Given the description of an element on the screen output the (x, y) to click on. 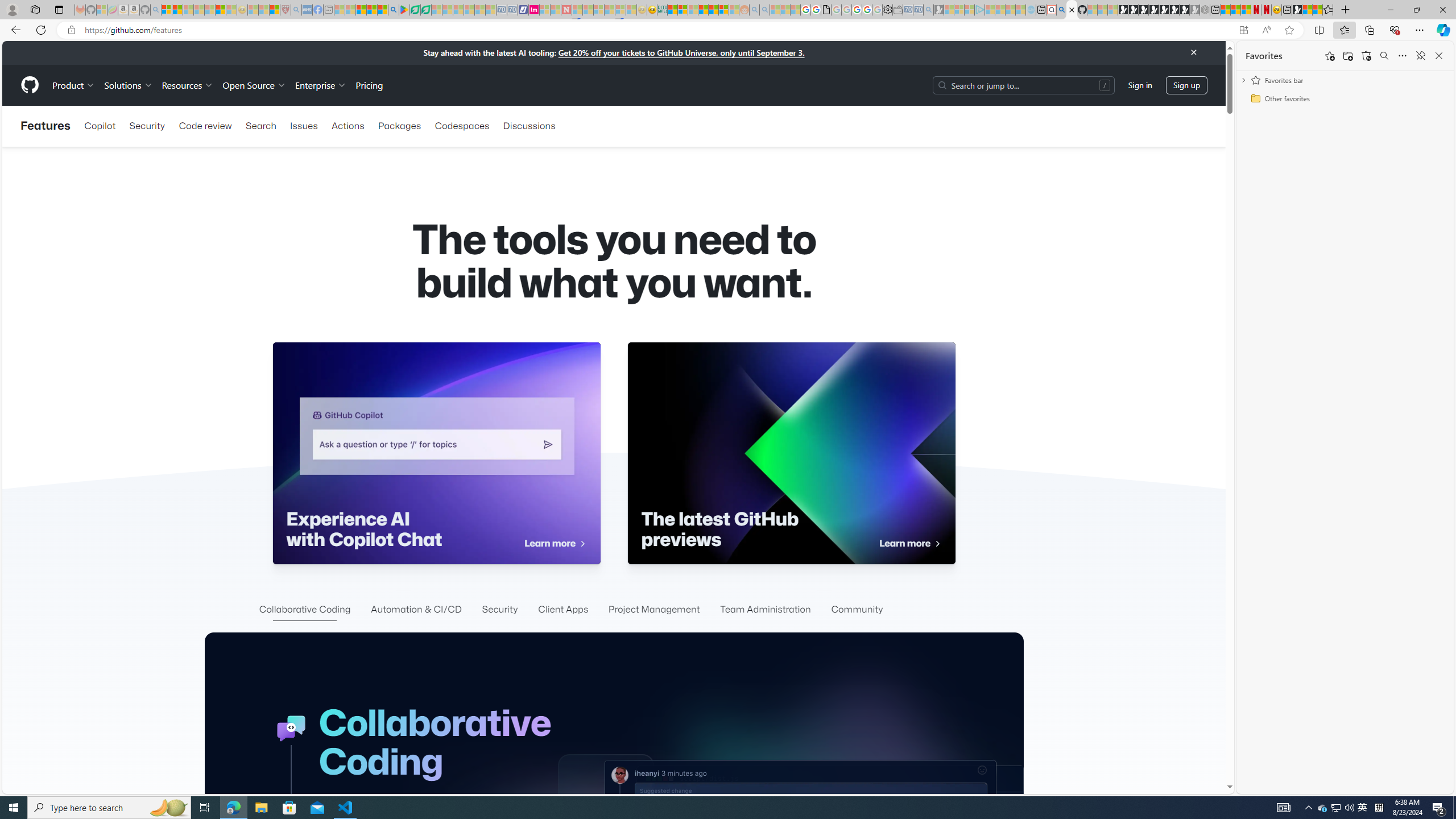
Jobs - lastminute.com Investor Portal (534, 9)
Terms of Use Agreement (414, 9)
Discussions (529, 125)
Features (45, 125)
